Given the description of an element on the screen output the (x, y) to click on. 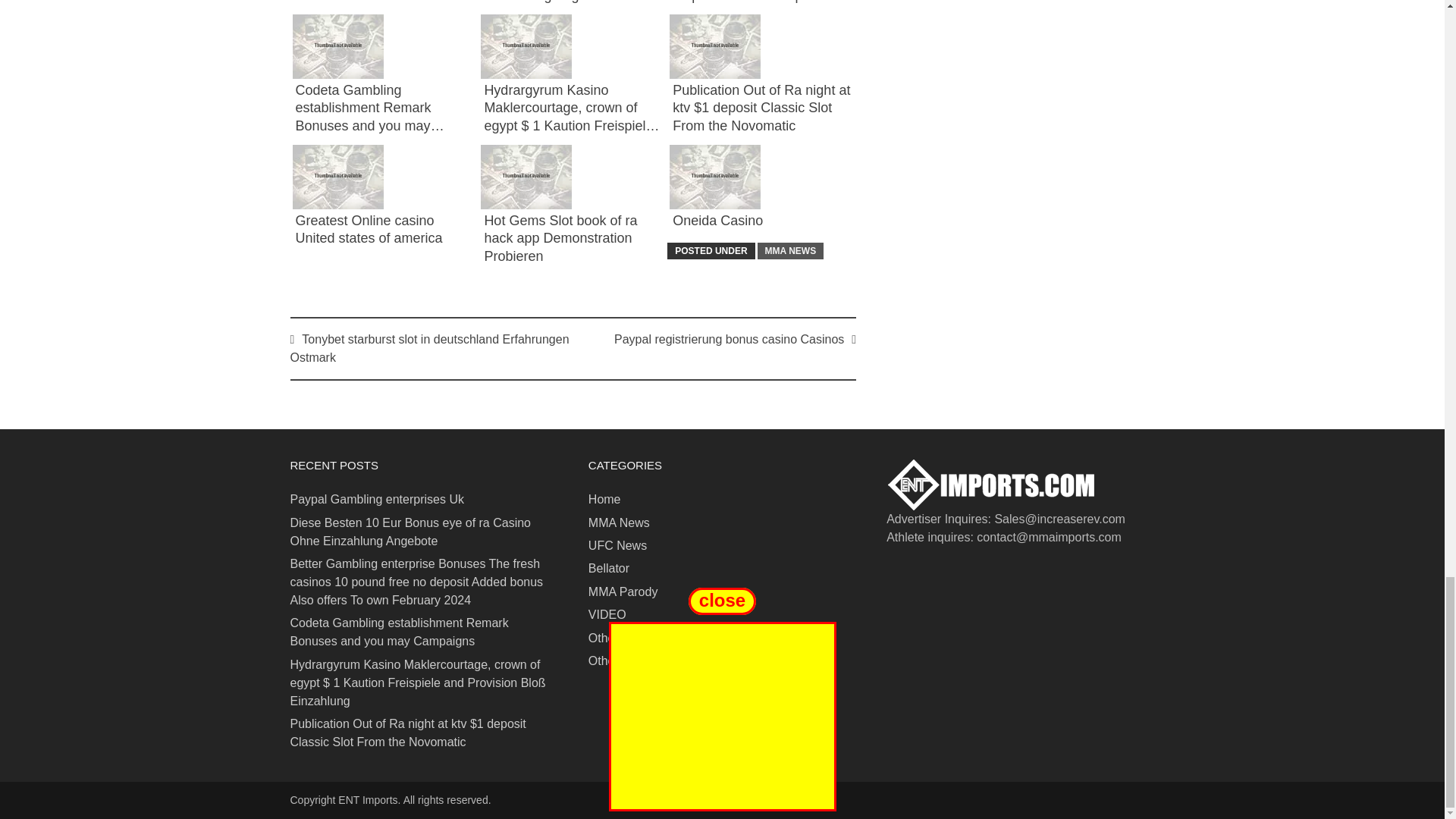
Hot Gems Slot book of ra hack app Demonstration Probieren (560, 237)
Greatest Online casino United states of america (368, 228)
